Given the description of an element on the screen output the (x, y) to click on. 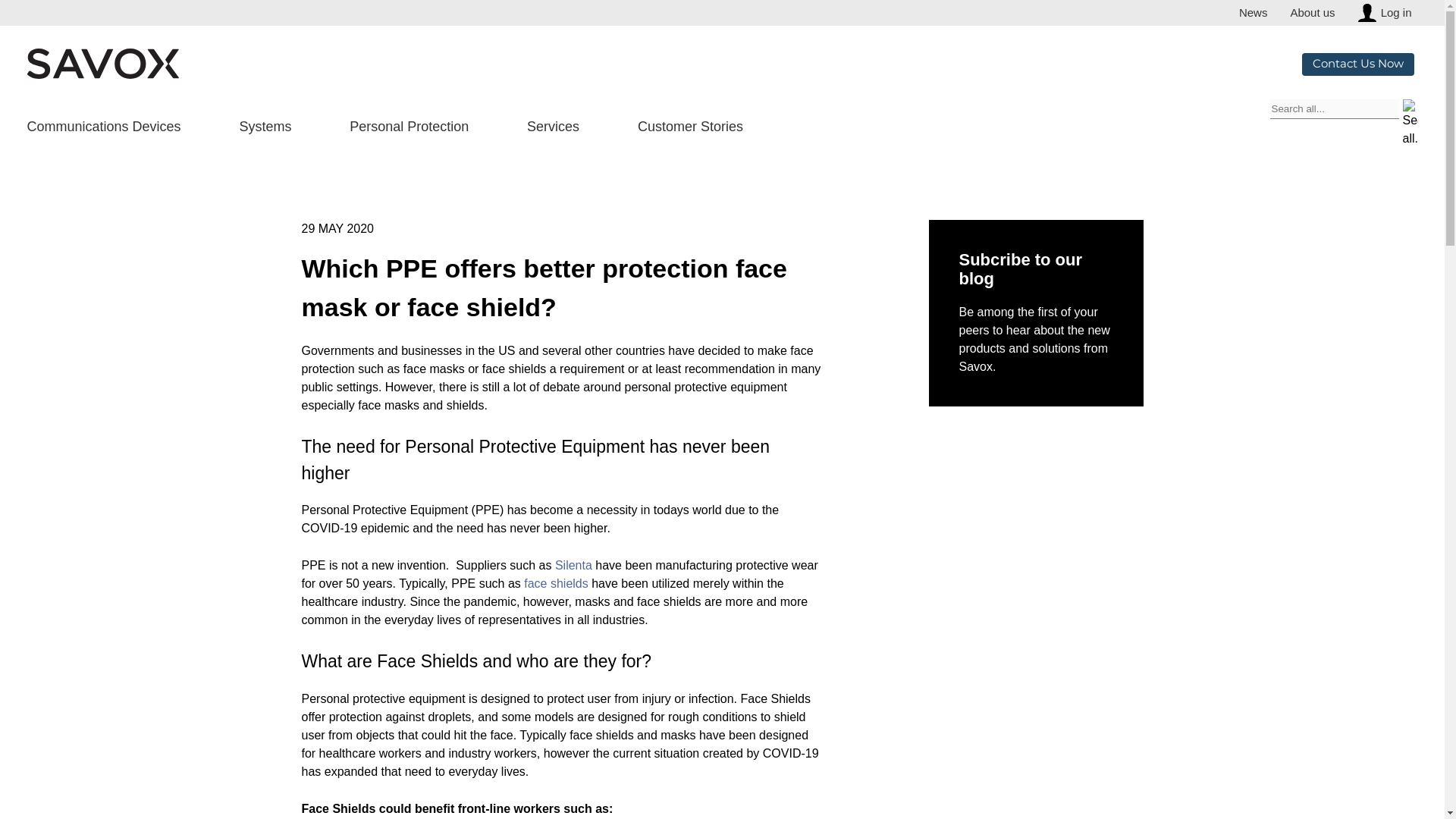
Log in (1366, 13)
Systems (264, 127)
News (1253, 11)
Silenta (573, 564)
Personal Protection (408, 127)
Communications Devices (103, 127)
Customer Stories (689, 127)
Services (553, 127)
About us (1312, 11)
Log in (1396, 13)
